Given the description of an element on the screen output the (x, y) to click on. 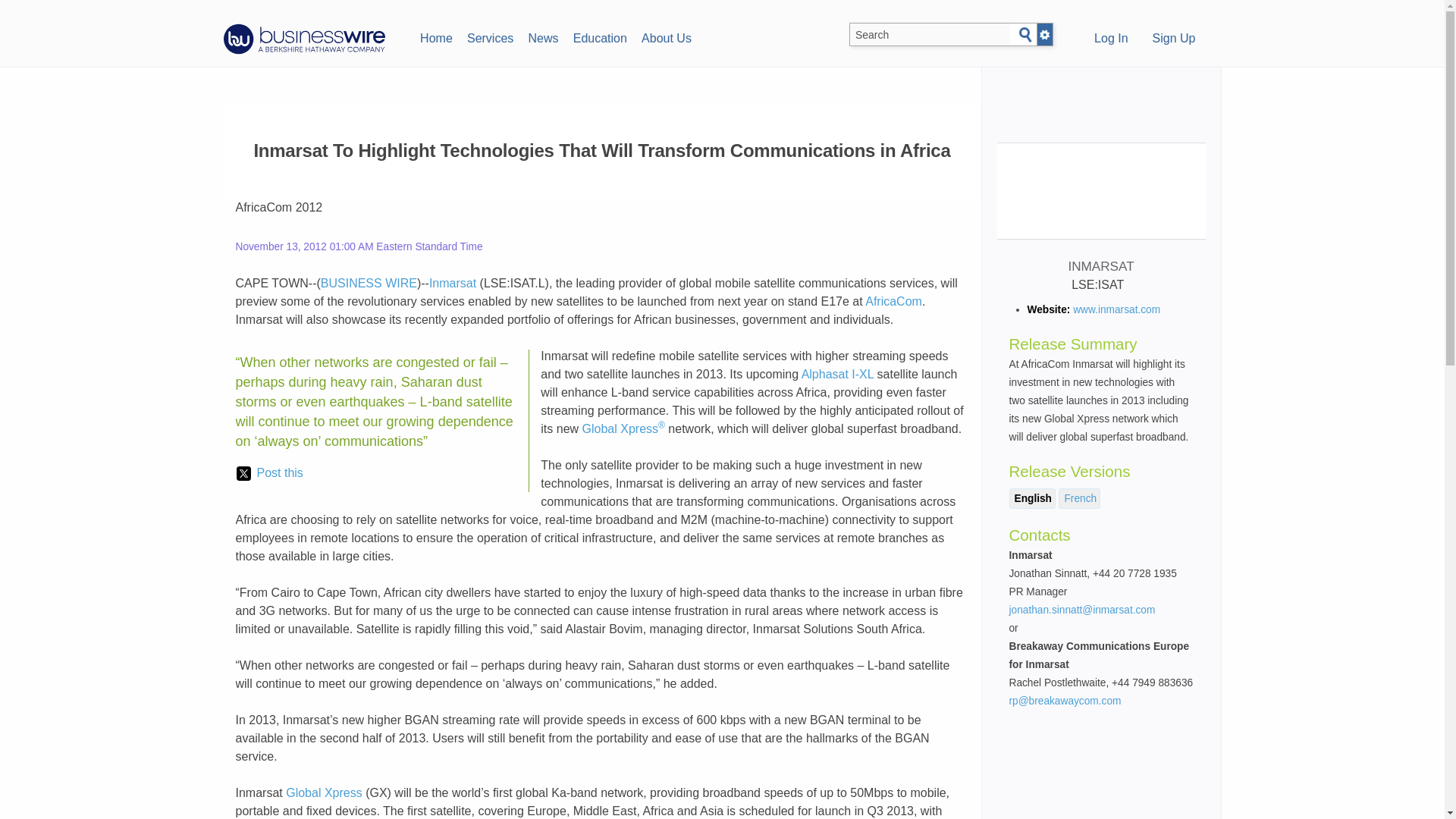
Education (599, 36)
Services (490, 36)
Global Xpress (323, 792)
Post this (269, 472)
BUSINESS WIRE (368, 282)
French (1080, 498)
News (543, 36)
AfricaCom (892, 300)
www.inmarsat.com (1116, 309)
Search (1025, 34)
Inmarsat (452, 282)
Home (436, 36)
Search BusinessWire.com (930, 34)
Alphasat I-XL (837, 373)
